Given the description of an element on the screen output the (x, y) to click on. 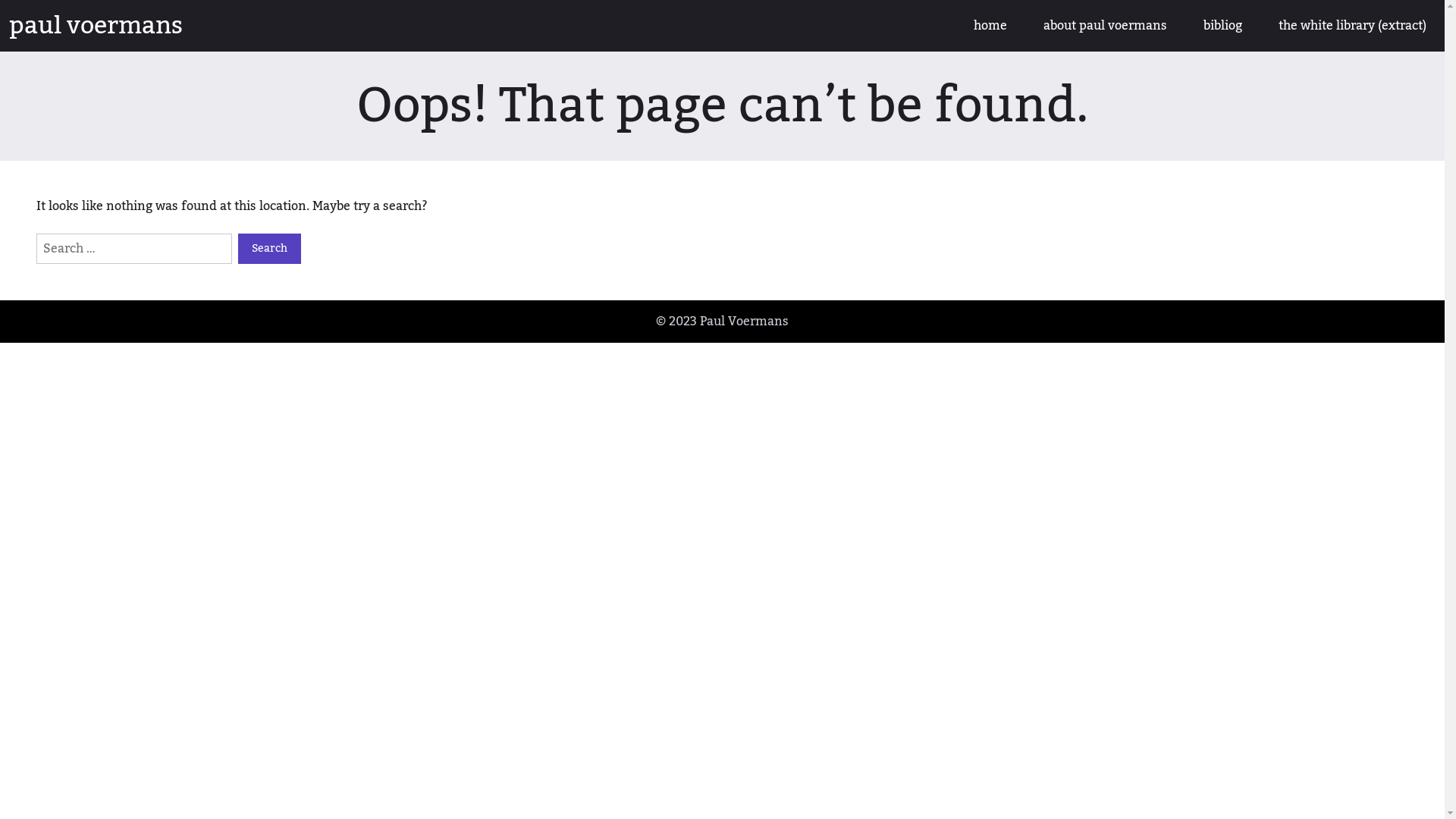
bibliog Element type: text (1222, 25)
the white library (extract) Element type: text (1352, 25)
Search Element type: text (269, 248)
about paul voermans Element type: text (1105, 25)
paul voermans Element type: text (95, 25)
Paul Voermans Element type: text (743, 321)
home Element type: text (990, 25)
